Given the description of an element on the screen output the (x, y) to click on. 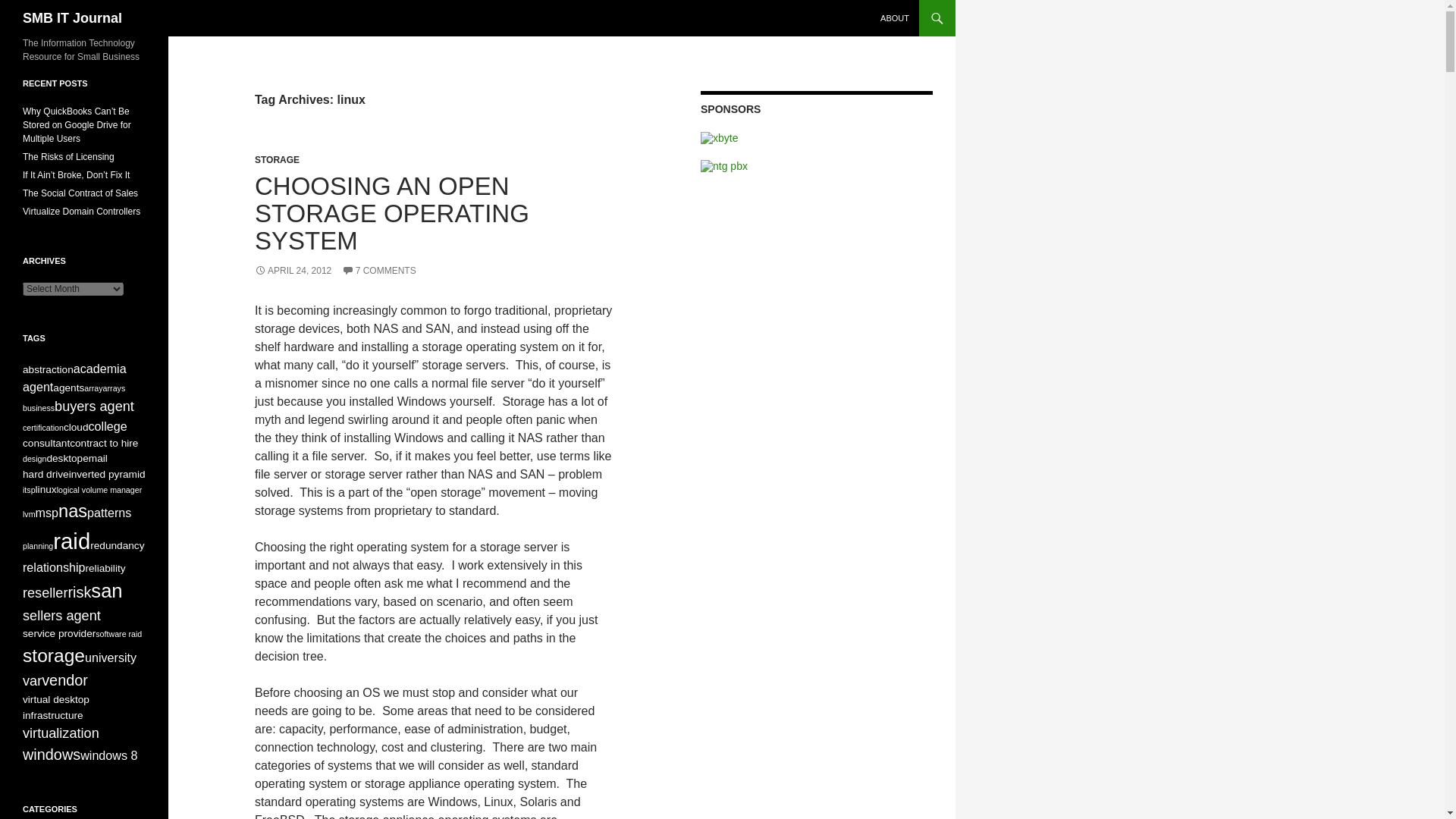
7 COMMENTS (379, 270)
APRIL 24, 2012 (292, 270)
ABOUT (894, 18)
CHOOSING AN OPEN STORAGE OPERATING SYSTEM (391, 212)
STORAGE (276, 159)
SMB IT Journal (72, 18)
